Given the description of an element on the screen output the (x, y) to click on. 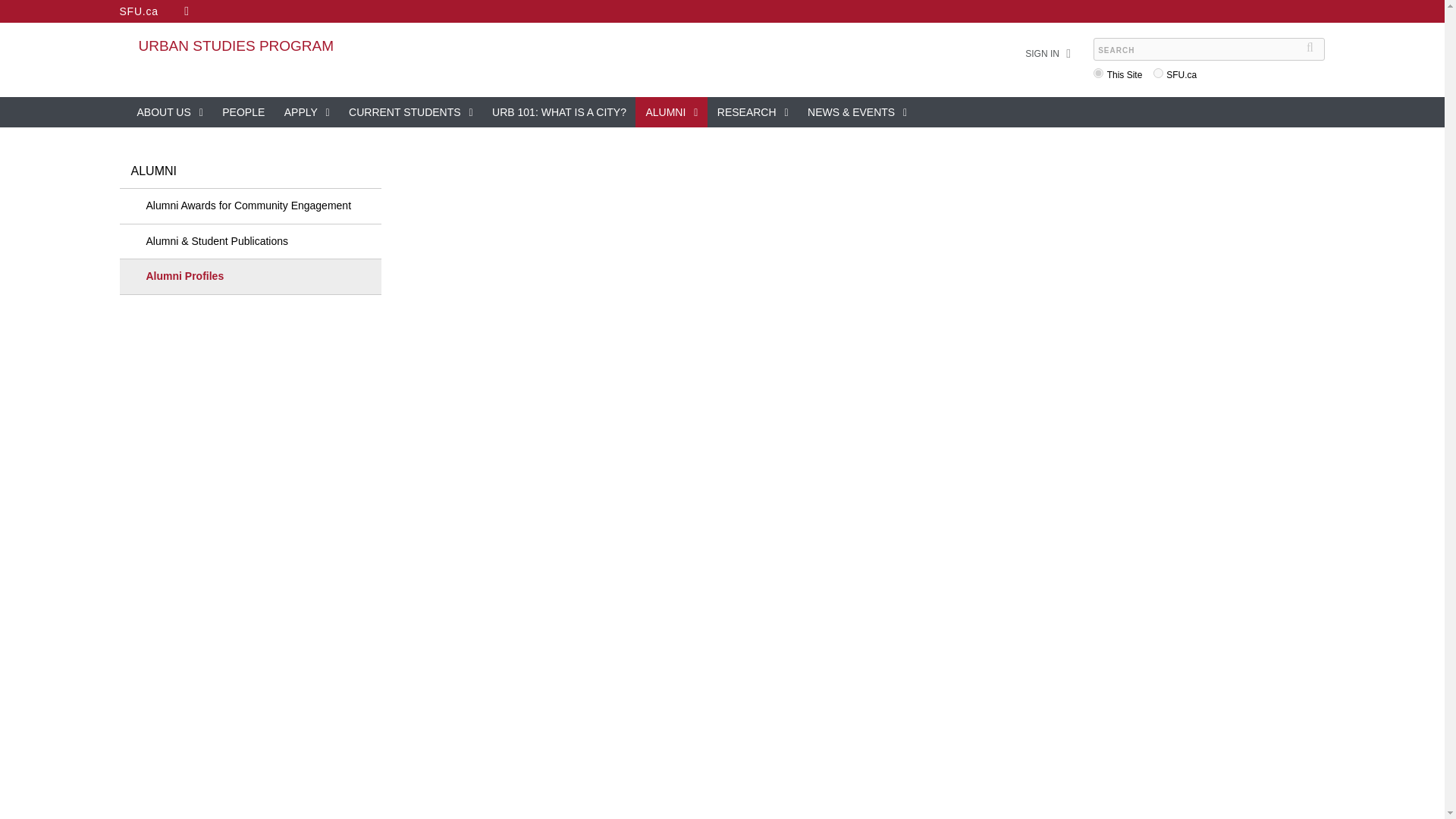
PEOPLE (243, 111)
APPLY (307, 112)
sfu (1158, 72)
site (1098, 72)
SFU.ca (138, 10)
URBAN STUDIES PROGRAM (235, 45)
ABOUT US (170, 112)
SIGN IN (1042, 53)
